Given the description of an element on the screen output the (x, y) to click on. 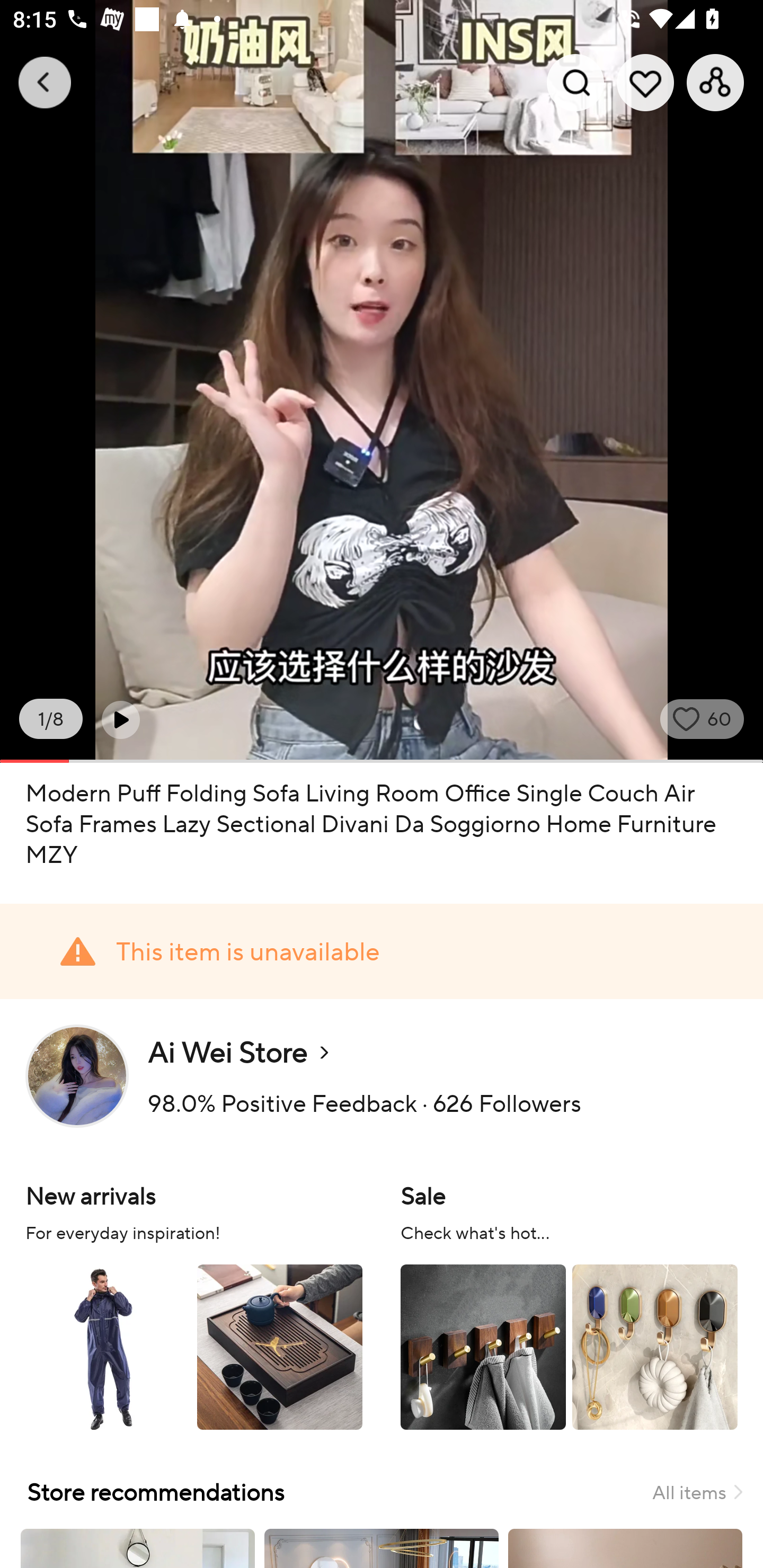
9.0 (381, 381)
Navigate up (44, 82)
wish state 60 (701, 718)
 (120, 719)
New arrivals For everyday inspiration!  (193, 1304)
Sale Check what's hot... (568, 1304)
All items (697, 1491)
